Given the description of an element on the screen output the (x, y) to click on. 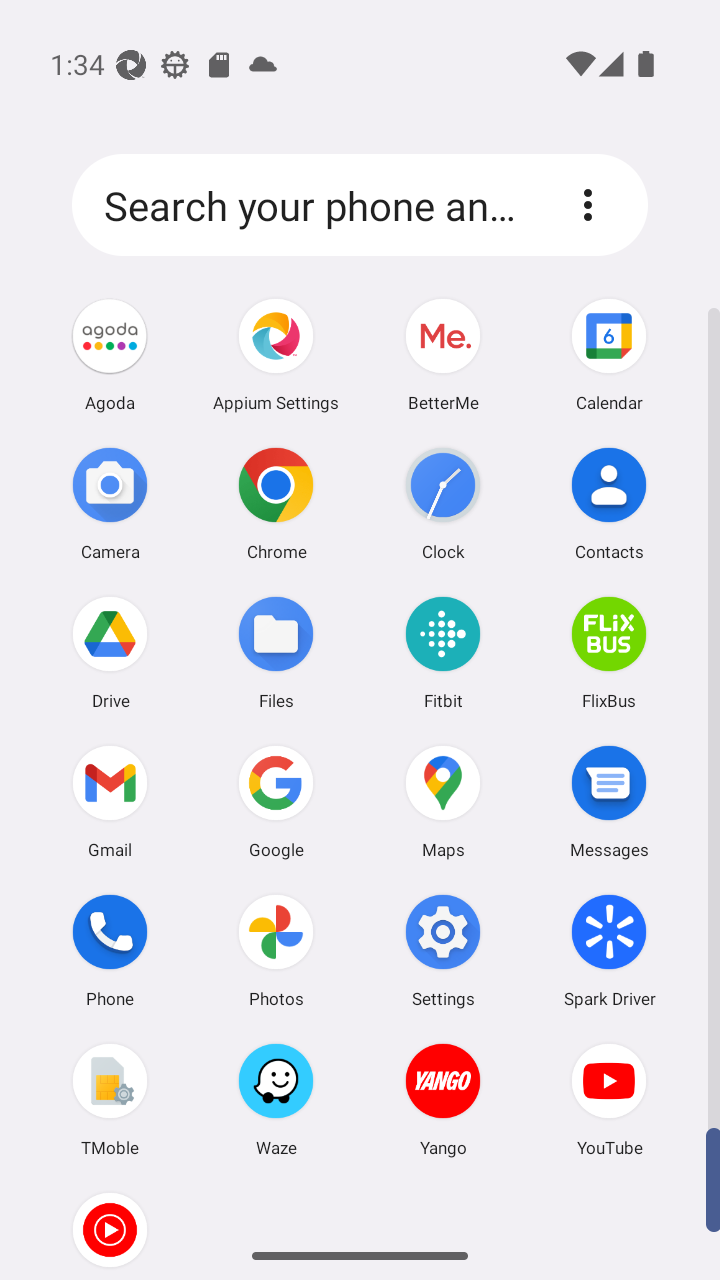
Search your phone and more (319, 204)
Preferences (587, 205)
Agoda (109, 354)
Appium Settings (276, 354)
BetterMe (443, 354)
Calendar (609, 354)
Camera (109, 503)
Chrome (276, 503)
Clock (443, 503)
Contacts (609, 503)
Drive (109, 652)
Files (276, 652)
Fitbit (443, 652)
FlixBus (609, 652)
Gmail (109, 801)
Google (276, 801)
Maps (443, 801)
Messages (609, 801)
Phone (109, 950)
Photos (276, 950)
Settings (443, 950)
Spark Driver (609, 950)
TMoble (109, 1099)
Waze (276, 1099)
Yango (443, 1099)
YouTube (609, 1099)
YT Music (109, 1226)
